Given the description of an element on the screen output the (x, y) to click on. 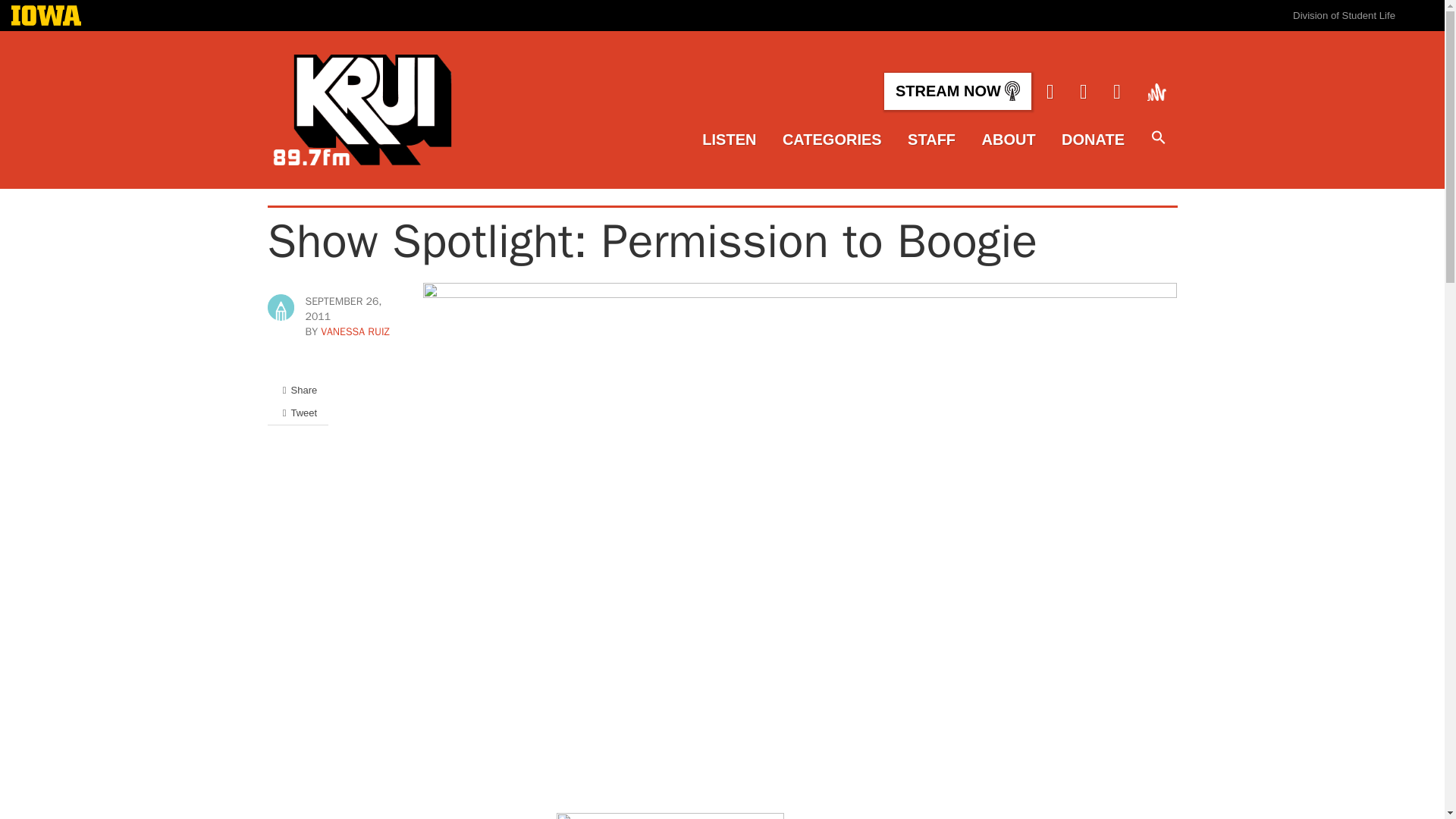
STREAM NOW (956, 90)
PTB banner (670, 816)
STAFF (931, 139)
ABOUT (1008, 139)
LISTEN (728, 139)
Division of Student Life (1343, 15)
Share on Facebook (296, 390)
Share on Twitter (296, 413)
The University of Iowa (46, 16)
CATEGORIES (832, 139)
